Given the description of an element on the screen output the (x, y) to click on. 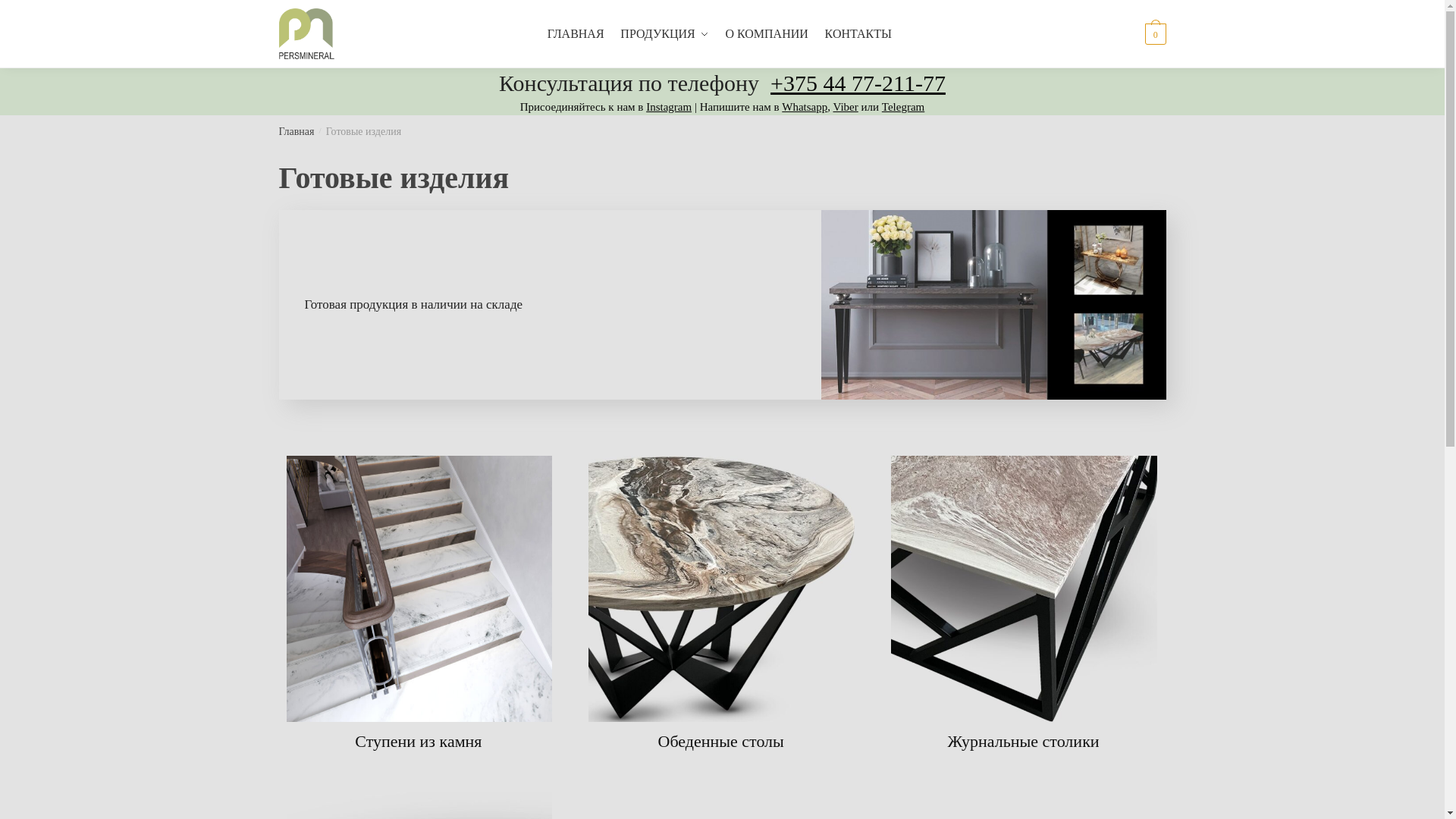
Viber Element type: text (845, 106)
Whatsapp Element type: text (804, 106)
+375 44 77-211-77 Element type: text (857, 82)
Telegram Element type: text (902, 106)
0 Element type: text (1152, 33)
Instagram Element type: text (668, 106)
